Given the description of an element on the screen output the (x, y) to click on. 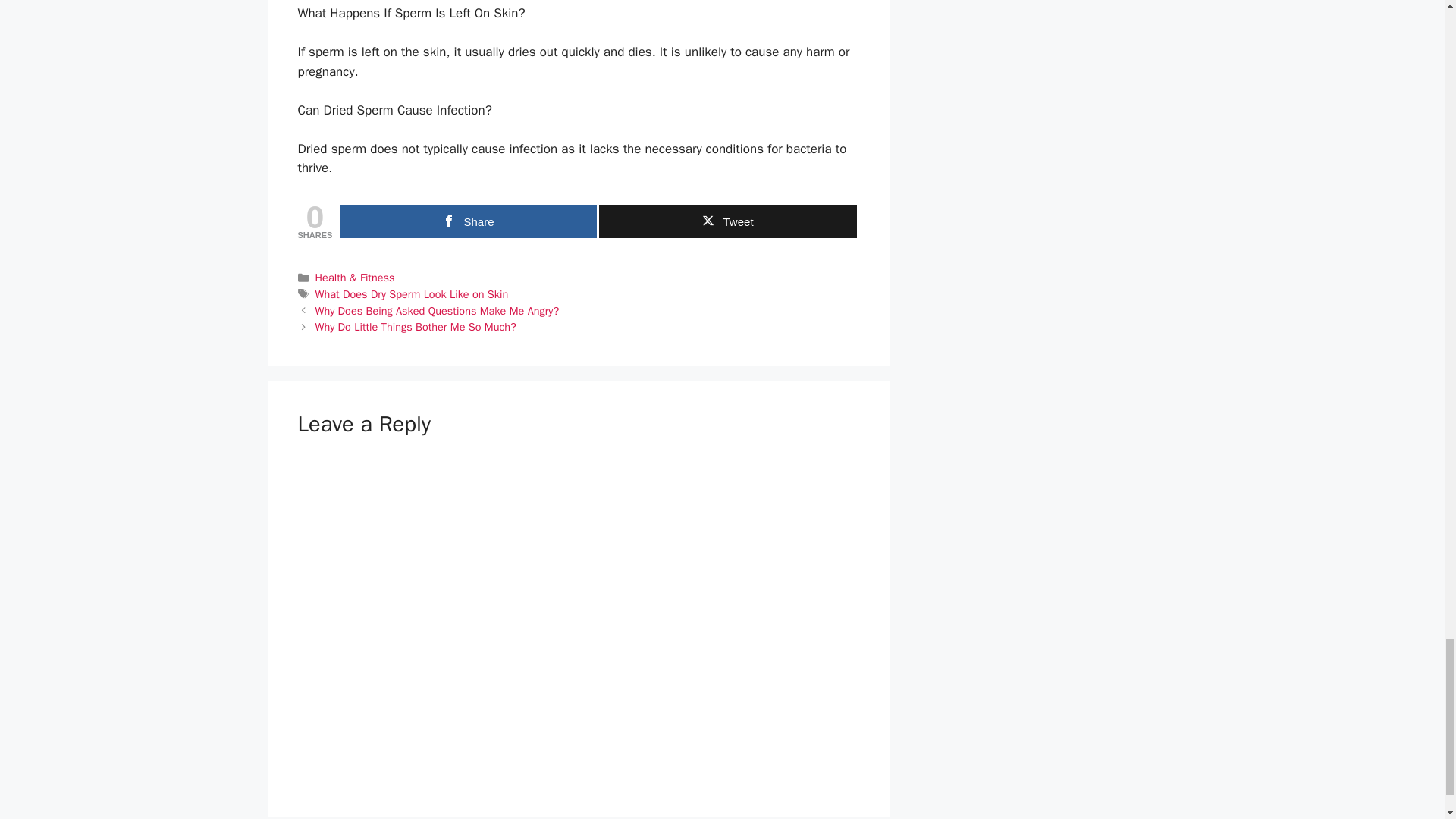
Why Does Being Asked Questions Make Me Angry? (437, 310)
What Does Dry Sperm Look Like on Skin (411, 294)
Share (467, 221)
Why Do Little Things Bother Me So Much? (415, 326)
Tweet (727, 221)
